Given the description of an element on the screen output the (x, y) to click on. 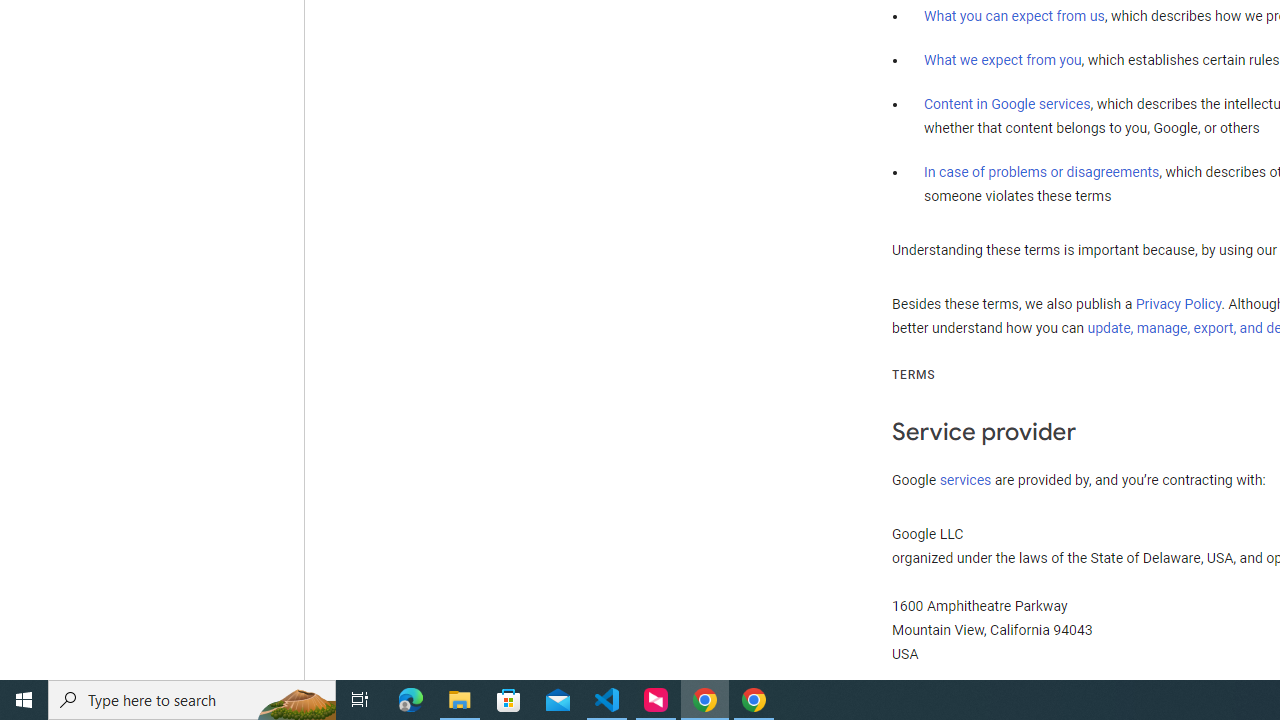
What you can expect from us (1014, 16)
What we expect from you (1002, 60)
services (965, 479)
In case of problems or disagreements (1041, 171)
Content in Google services (1007, 104)
